Given the description of an element on the screen output the (x, y) to click on. 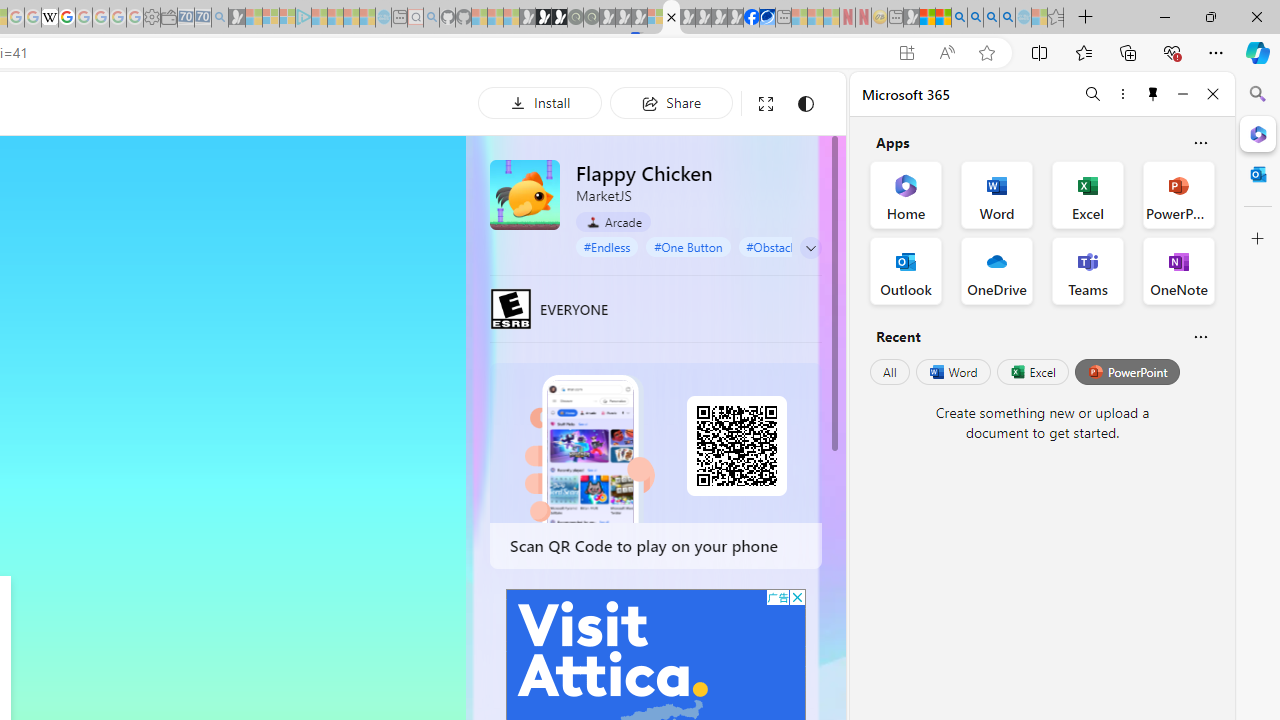
Nordace | Facebook (751, 17)
#Obstacle Course (792, 246)
Class: control (811, 248)
Sign in to your account - Sleeping (655, 17)
Is this helpful? (1200, 336)
Future Focus Report 2024 - Sleeping (591, 17)
